Given the description of an element on the screen output the (x, y) to click on. 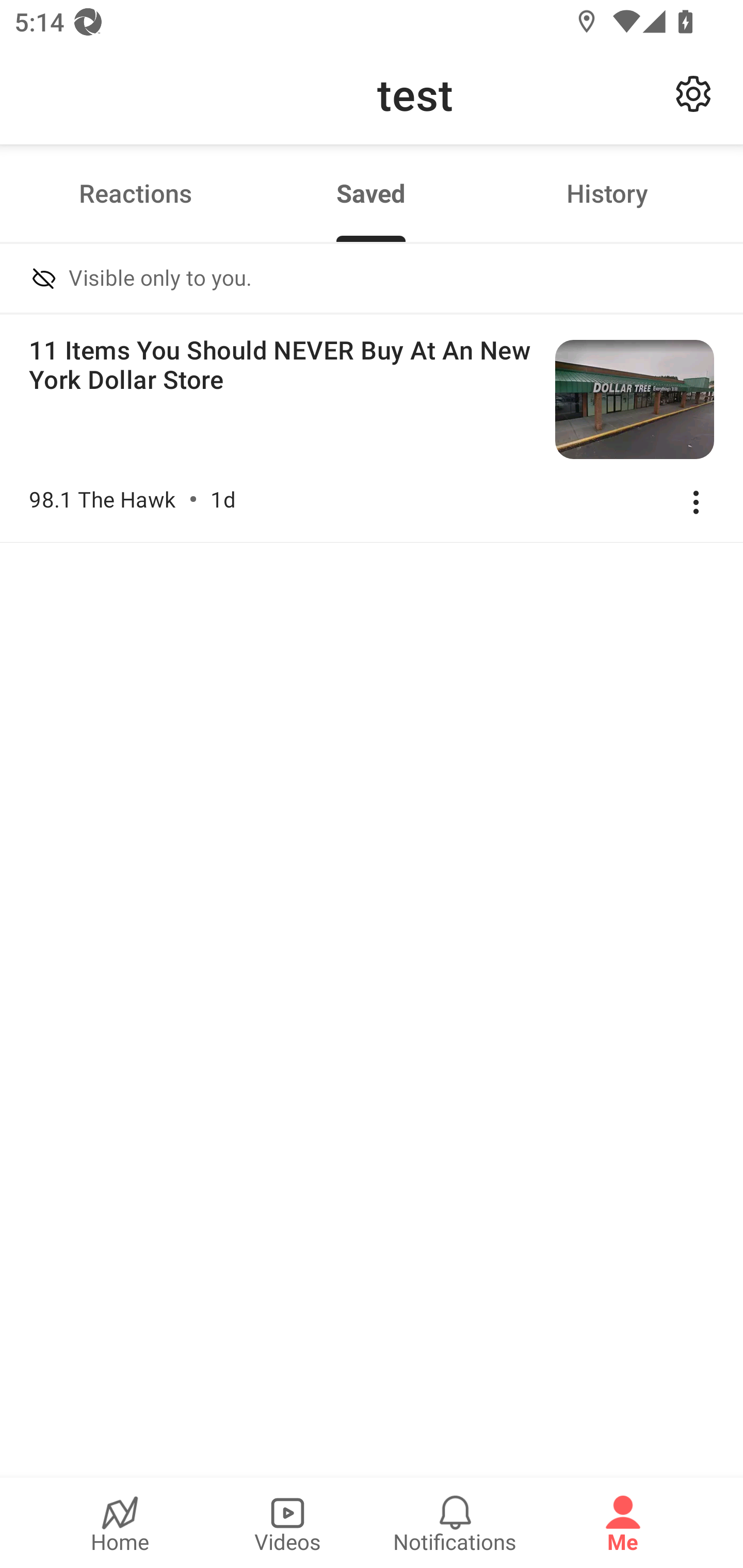
Reactions (135, 192)
History (606, 192)
Home (119, 1522)
Videos (287, 1522)
Notifications (455, 1522)
